Given the description of an element on the screen output the (x, y) to click on. 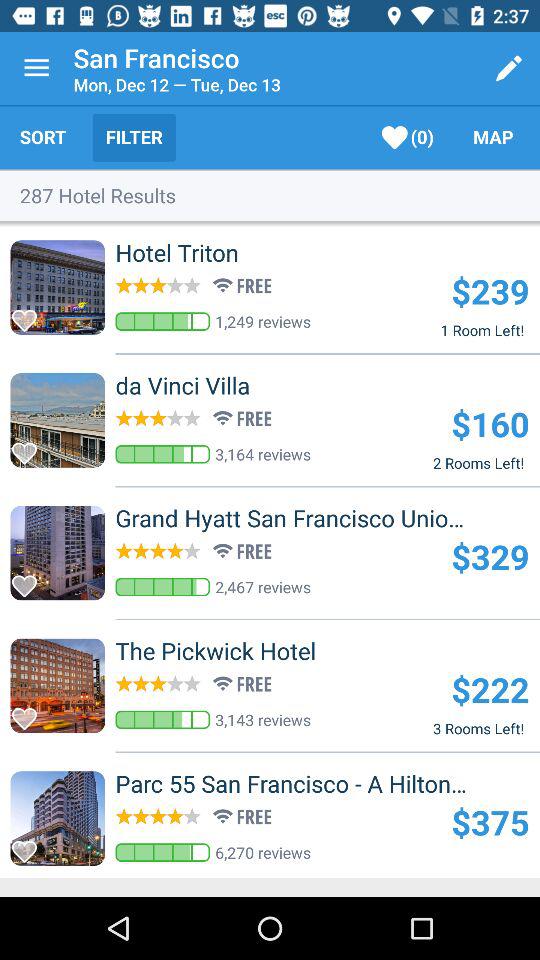
add to favorites (30, 845)
